Given the description of an element on the screen output the (x, y) to click on. 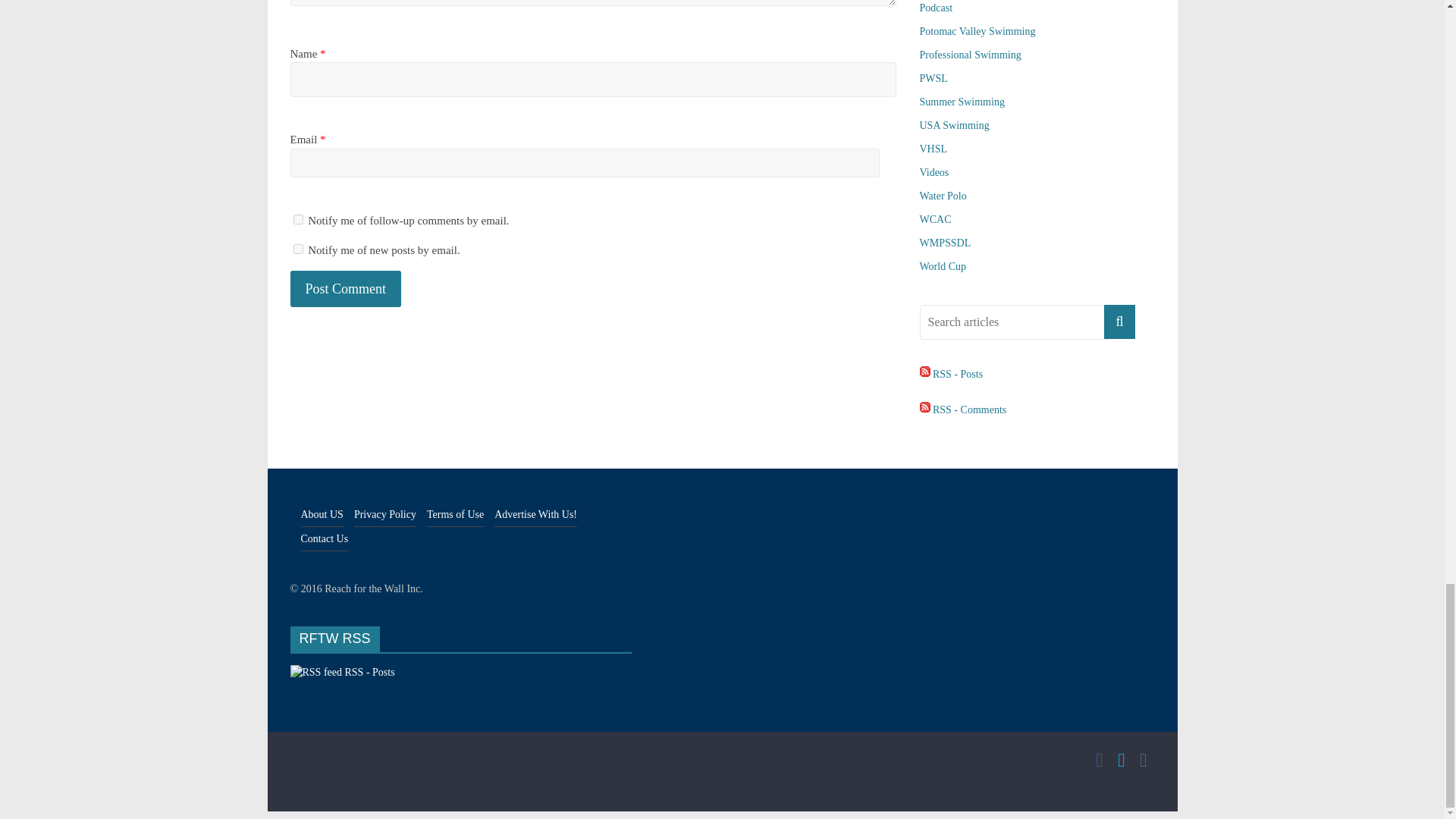
Post Comment (345, 289)
Subscribe to posts (341, 672)
Post Comment (345, 289)
subscribe (297, 248)
Subscribe to posts (950, 374)
subscribe (297, 219)
Subscribe to comments (962, 409)
